Given the description of an element on the screen output the (x, y) to click on. 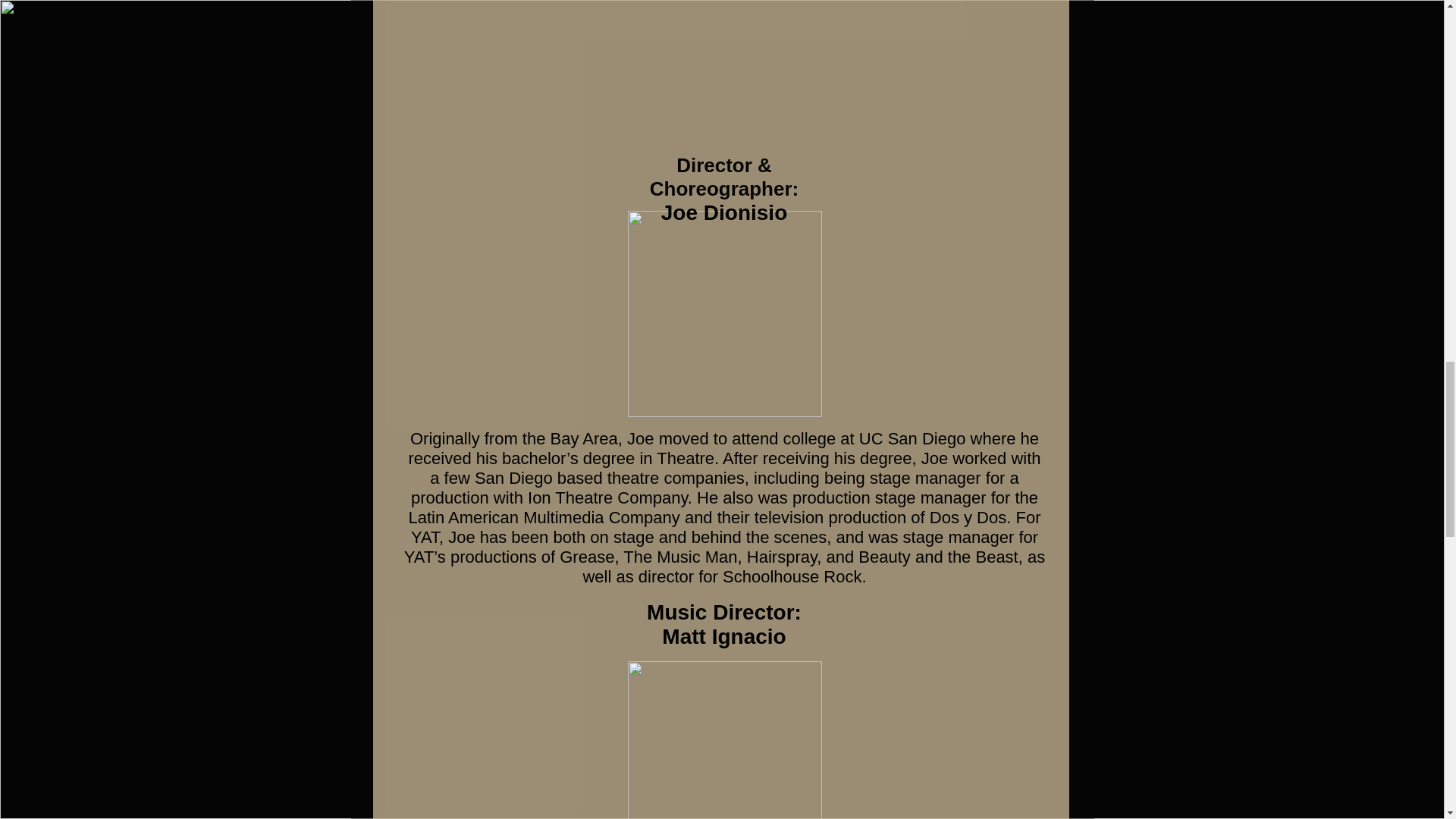
External YouTube (724, 27)
